Given the description of an element on the screen output the (x, y) to click on. 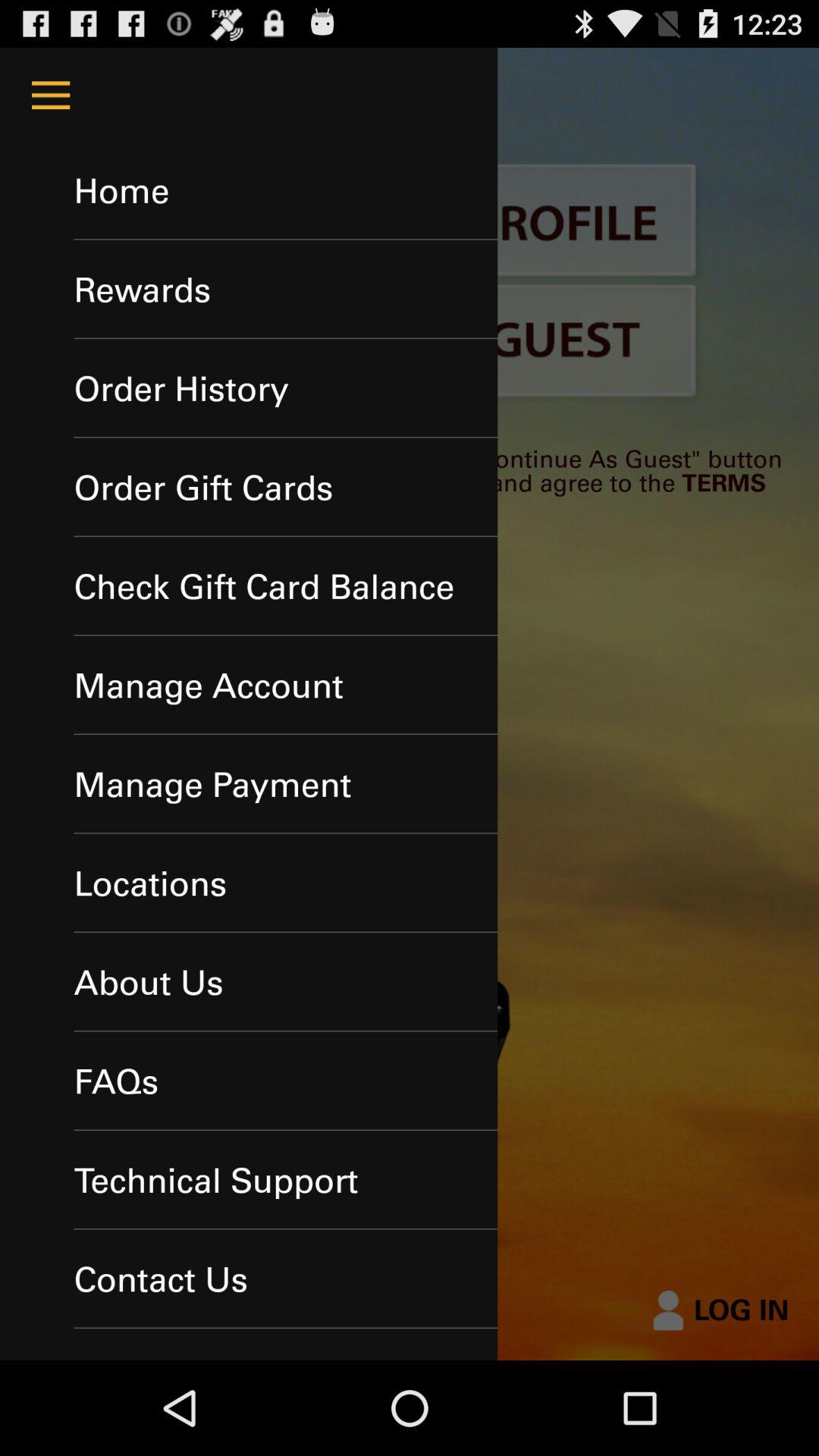
click the button on the top left corner of the web page (50, 95)
